Given the description of an element on the screen output the (x, y) to click on. 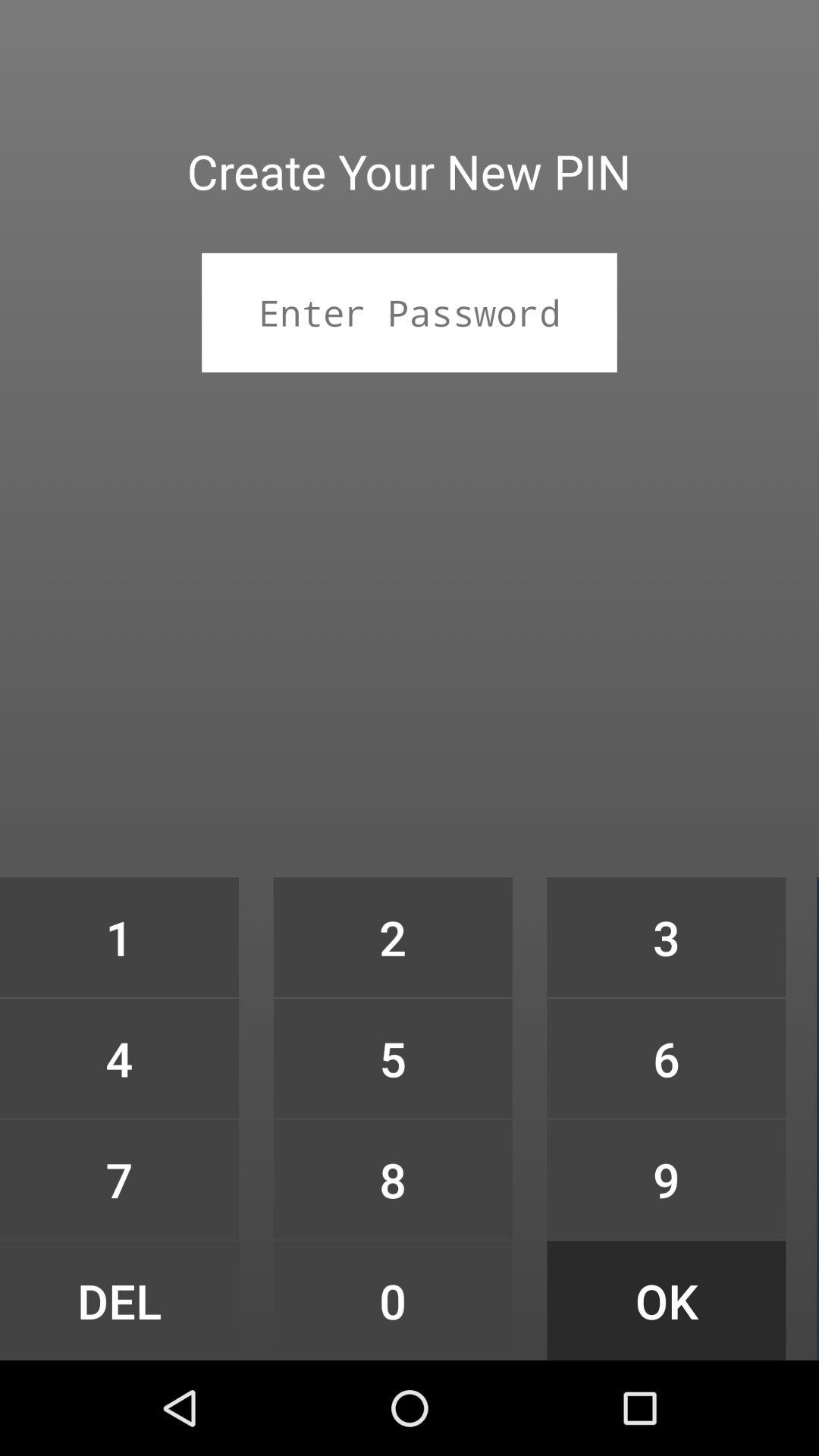
open item to the right of the 2 (666, 937)
